Given the description of an element on the screen output the (x, y) to click on. 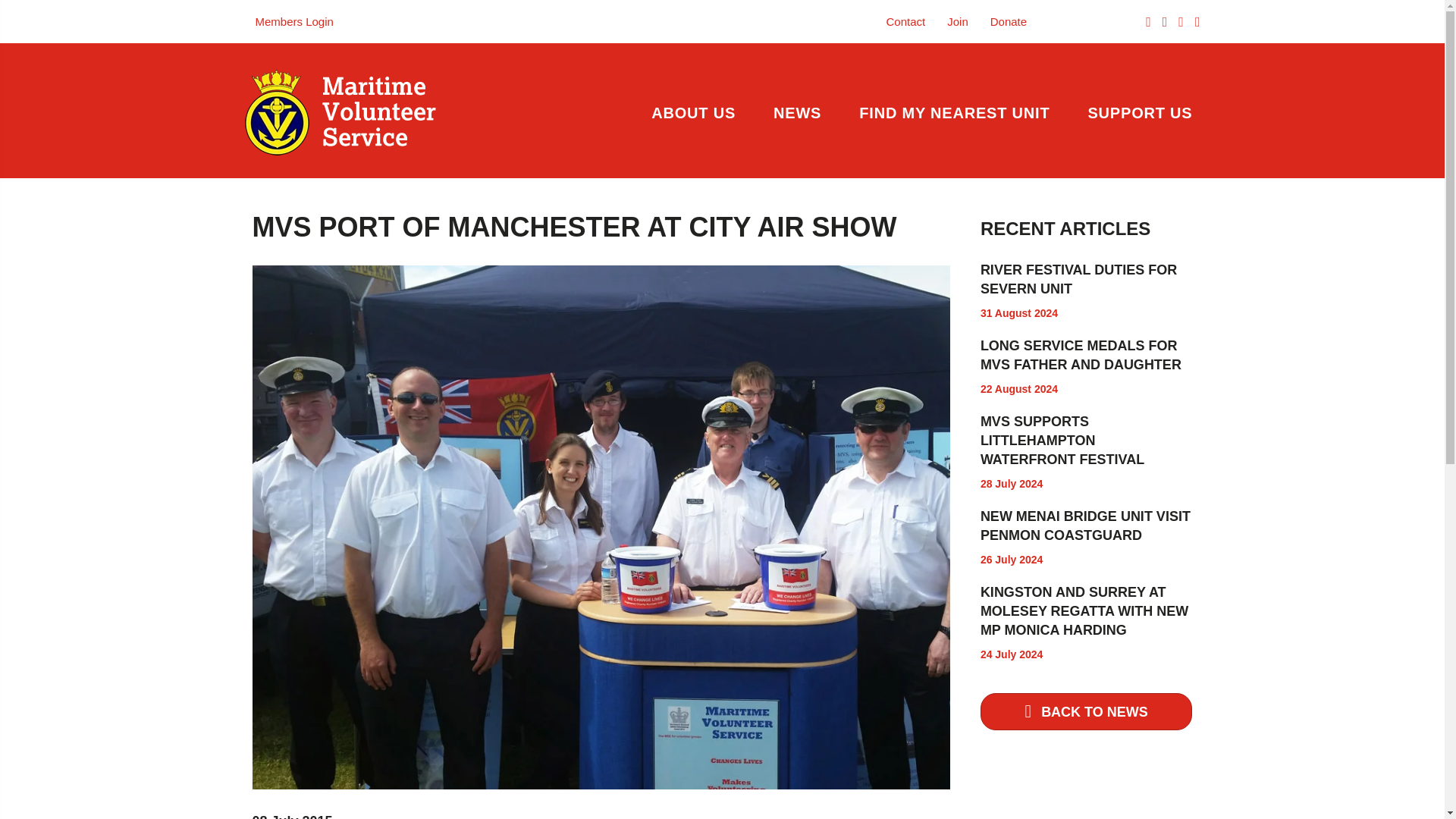
Join (957, 20)
MVS Supports Littlehampton Waterfront Festival (1061, 440)
RIVER FESTIVAL DUTIES FOR SEVERN UNIT (1077, 279)
MVS-Website-Logo-2018 (339, 112)
Contact (905, 20)
ABOUT US (692, 112)
River Festival Duties for Severn Unit (1077, 279)
NEWS (796, 112)
